Given the description of an element on the screen output the (x, y) to click on. 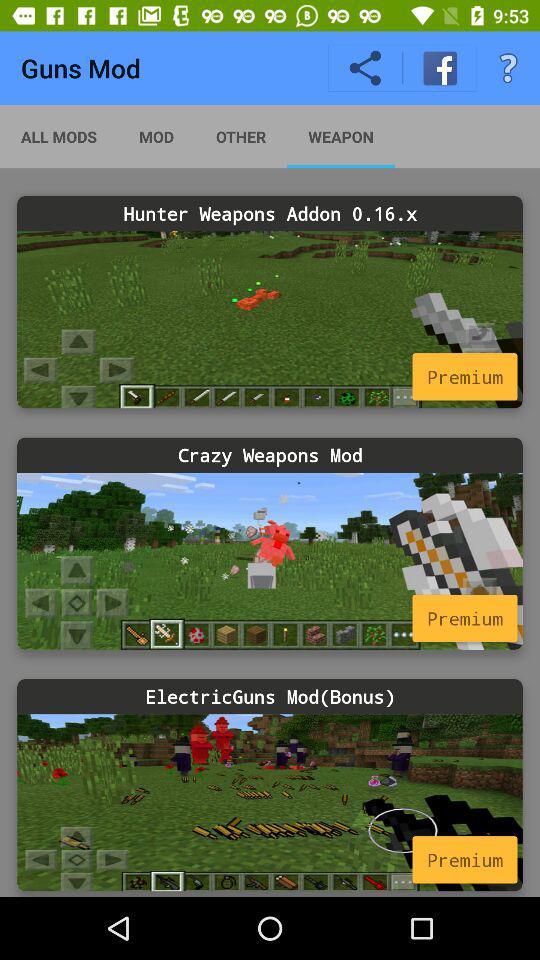
select mod (269, 802)
